Given the description of an element on the screen output the (x, y) to click on. 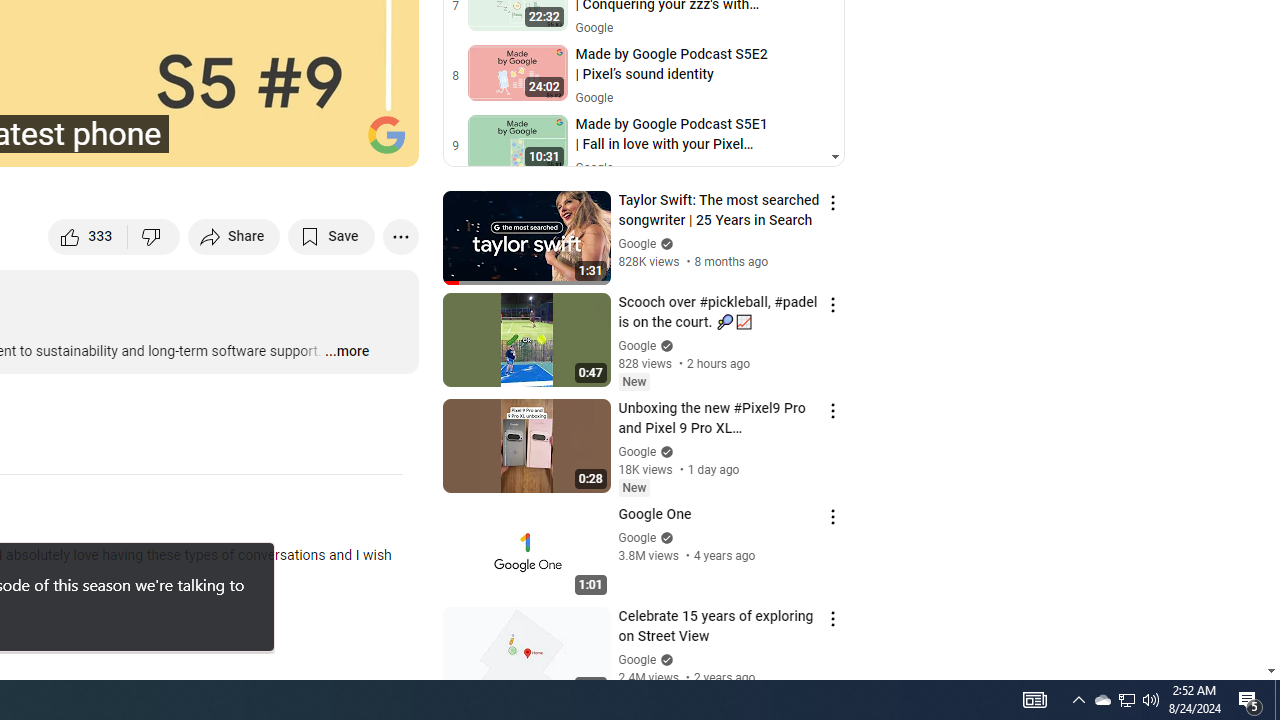
...more (345, 352)
Channel watermark (386, 134)
Verified (664, 659)
like this video along with 333 other people (88, 236)
Full screen (f) (382, 142)
Channel watermark (386, 134)
Subtitles/closed captions unavailable (190, 142)
Share (234, 236)
Miniplayer (i) (286, 142)
New (634, 487)
